Given the description of an element on the screen output the (x, y) to click on. 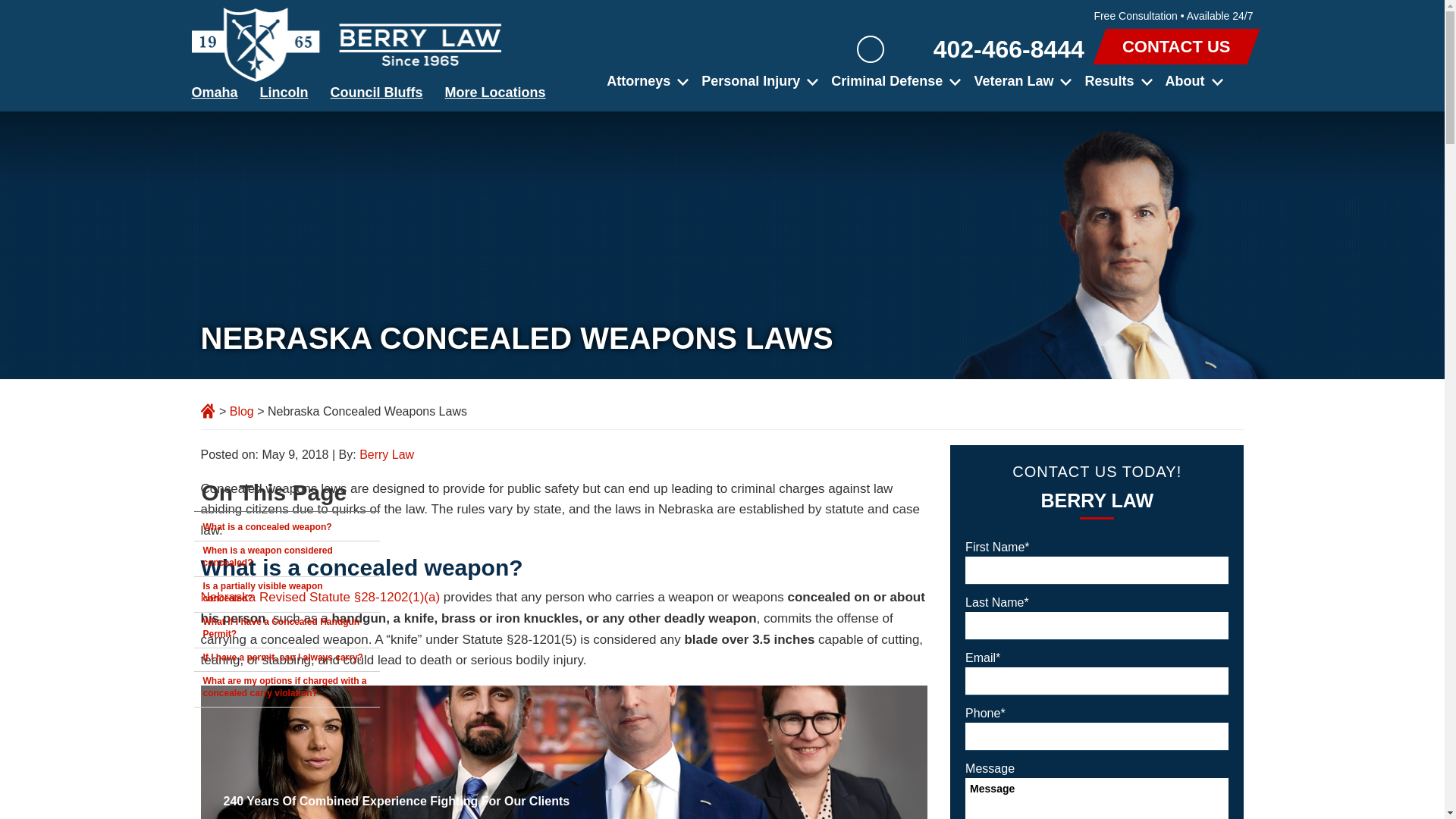
402-466-8444 (993, 48)
Berry Law (346, 44)
CONTACT US (1176, 48)
Omaha (218, 92)
If I have a permit, can I always carry? (286, 659)
Lincoln (288, 92)
More Locations (499, 92)
Attorneys (643, 81)
What is a concealed weapon? (286, 529)
